Given the description of an element on the screen output the (x, y) to click on. 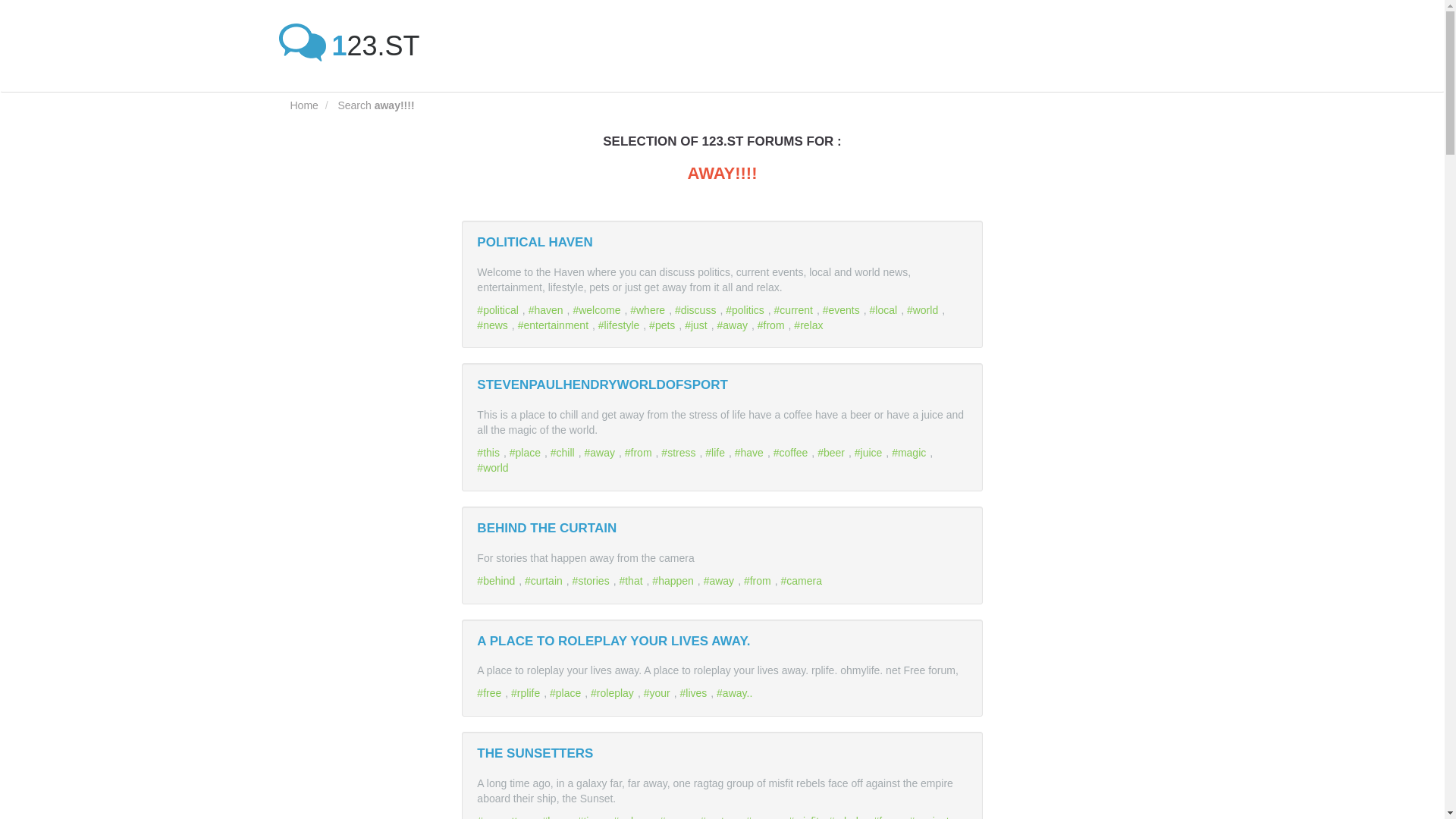
juice (870, 452)
world (924, 309)
from (773, 324)
this (490, 452)
relax (810, 324)
local (885, 309)
politics (746, 309)
local (885, 309)
magic (910, 452)
have (751, 452)
Stevenpaulhendryworldofsport (602, 384)
where (649, 309)
just (697, 324)
welcome (598, 309)
lifestyle (620, 324)
